Given the description of an element on the screen output the (x, y) to click on. 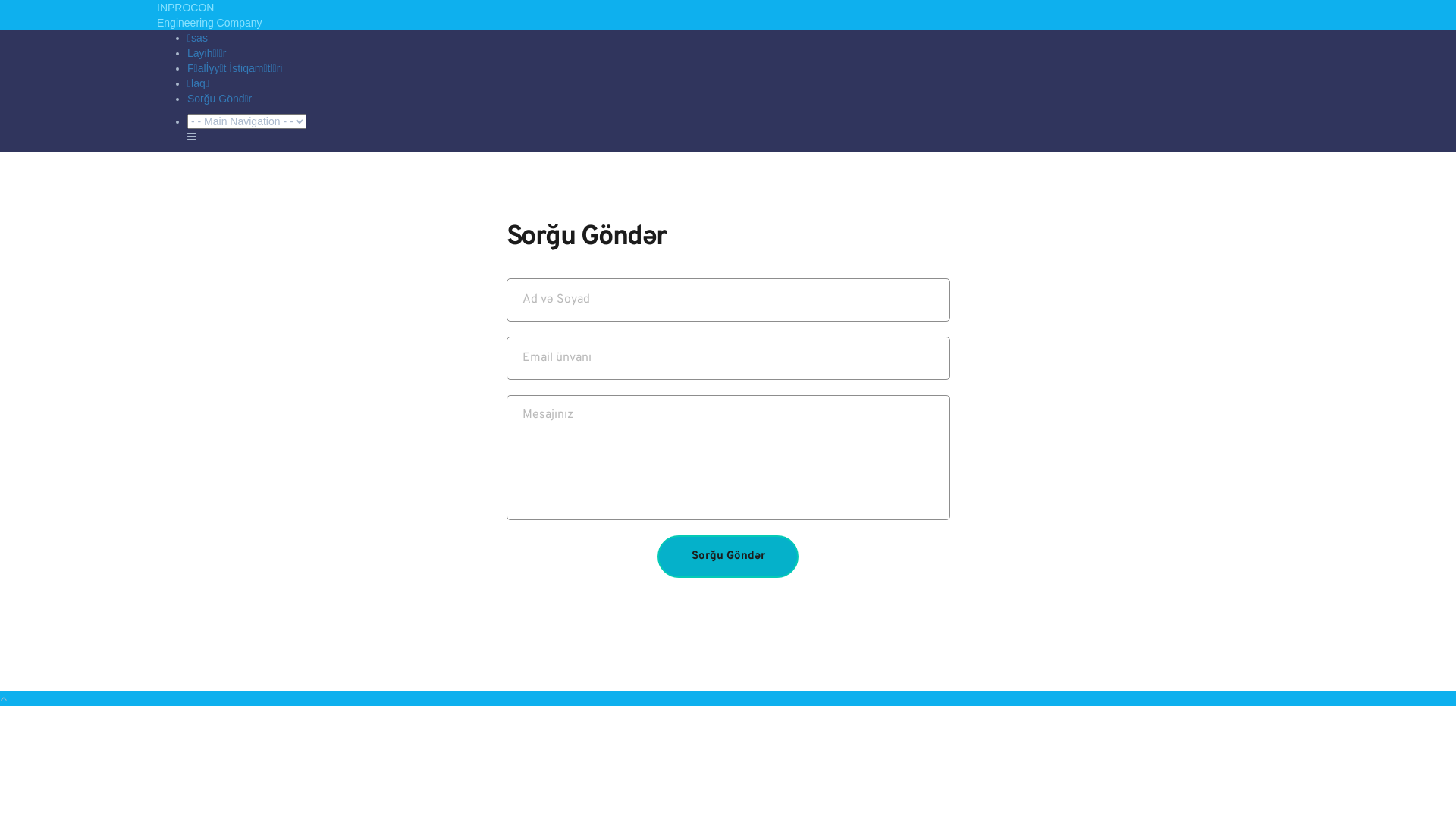
Engineering Company Element type: text (209, 22)
INPROCON Element type: text (184, 7)
